Given the description of an element on the screen output the (x, y) to click on. 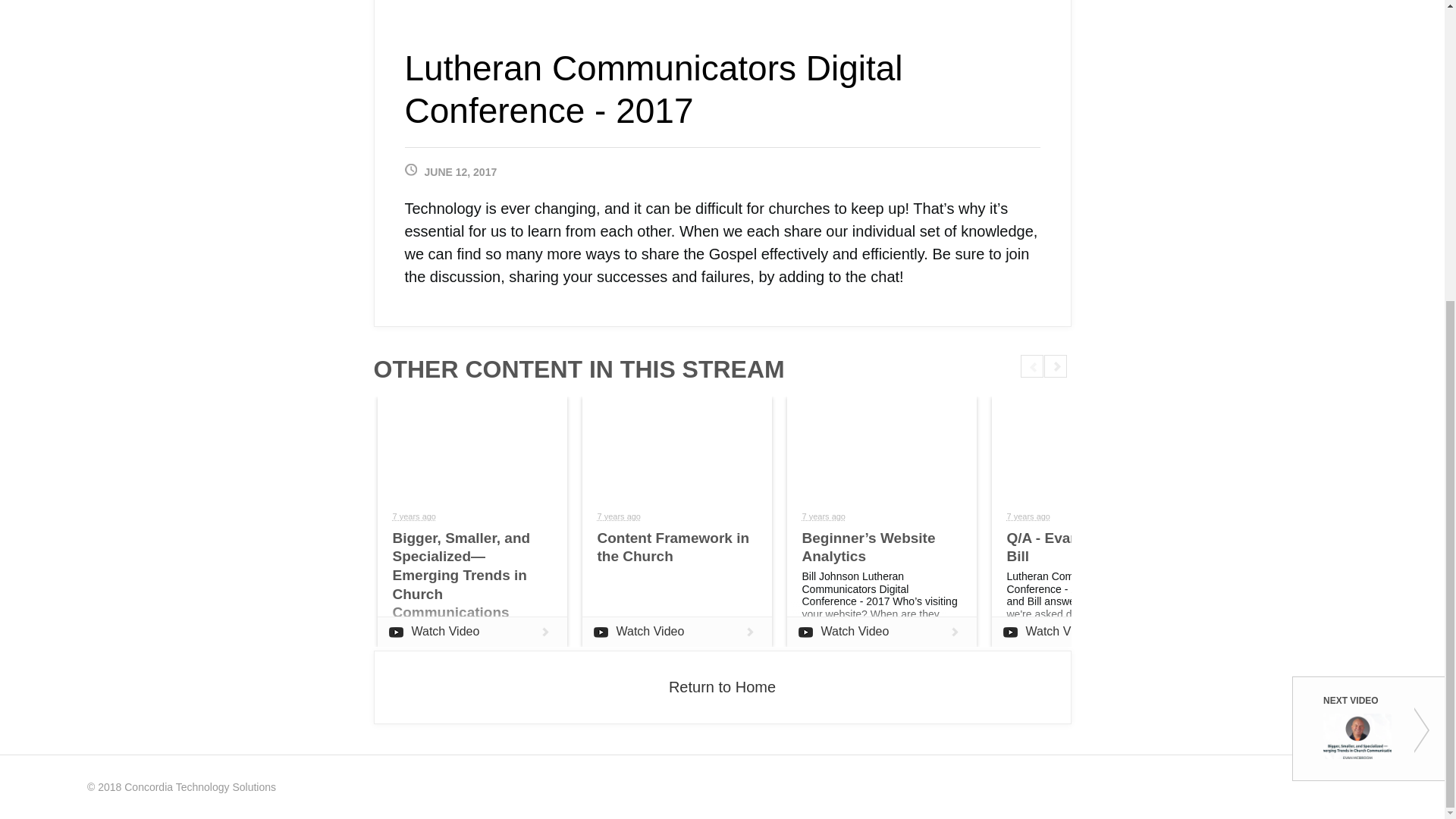
2017-06-15T21:30:53 (618, 515)
2017-06-15T21:30:52 (823, 515)
2017-06-15T21:30:52 (1028, 515)
2017-06-15T21:30:53 (414, 515)
